Given the description of an element on the screen output the (x, y) to click on. 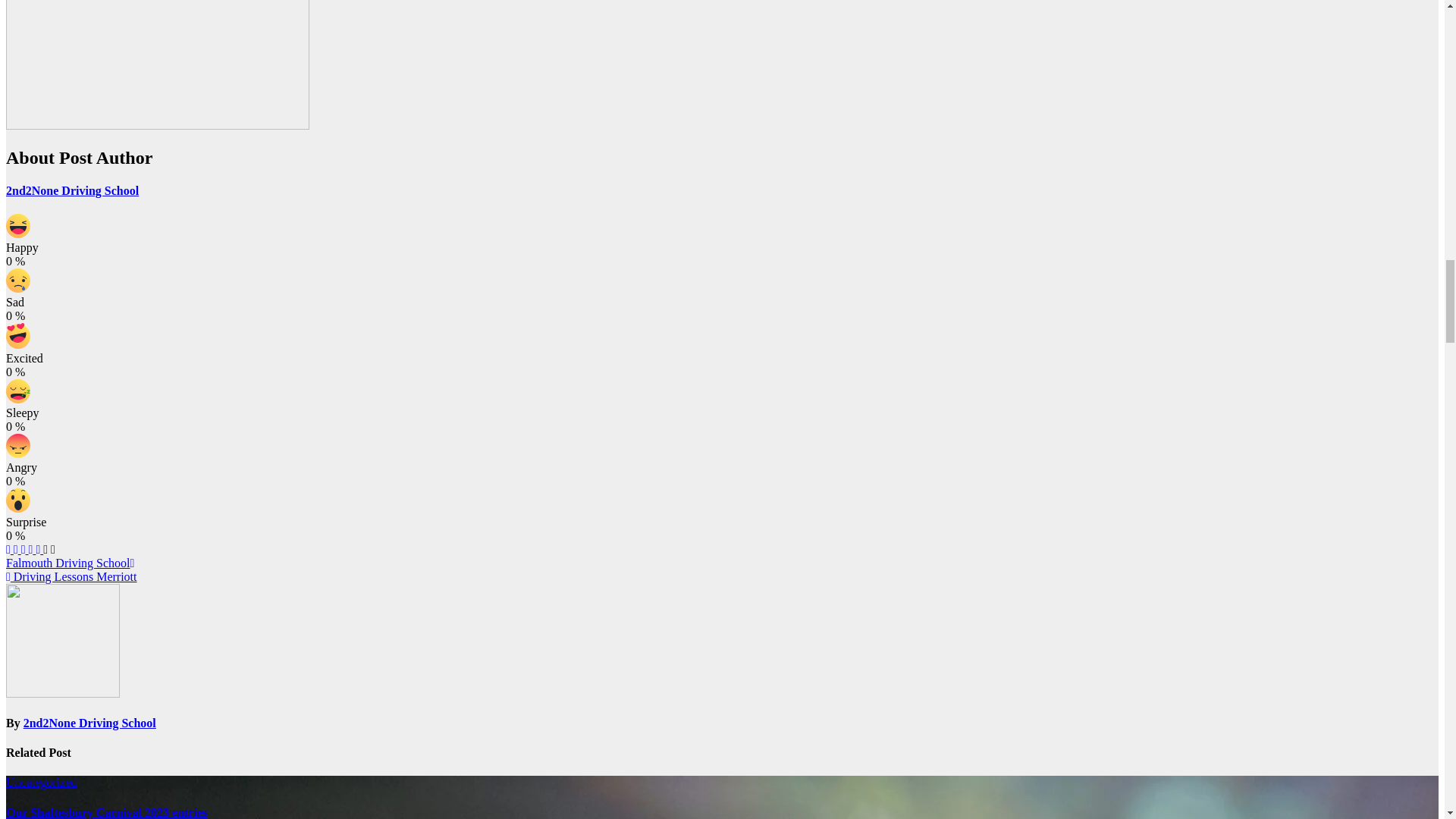
2nd2None Driving School (71, 190)
Permalink to: Our Shaftesbury Carnival 2023 entries (105, 812)
